Given the description of an element on the screen output the (x, y) to click on. 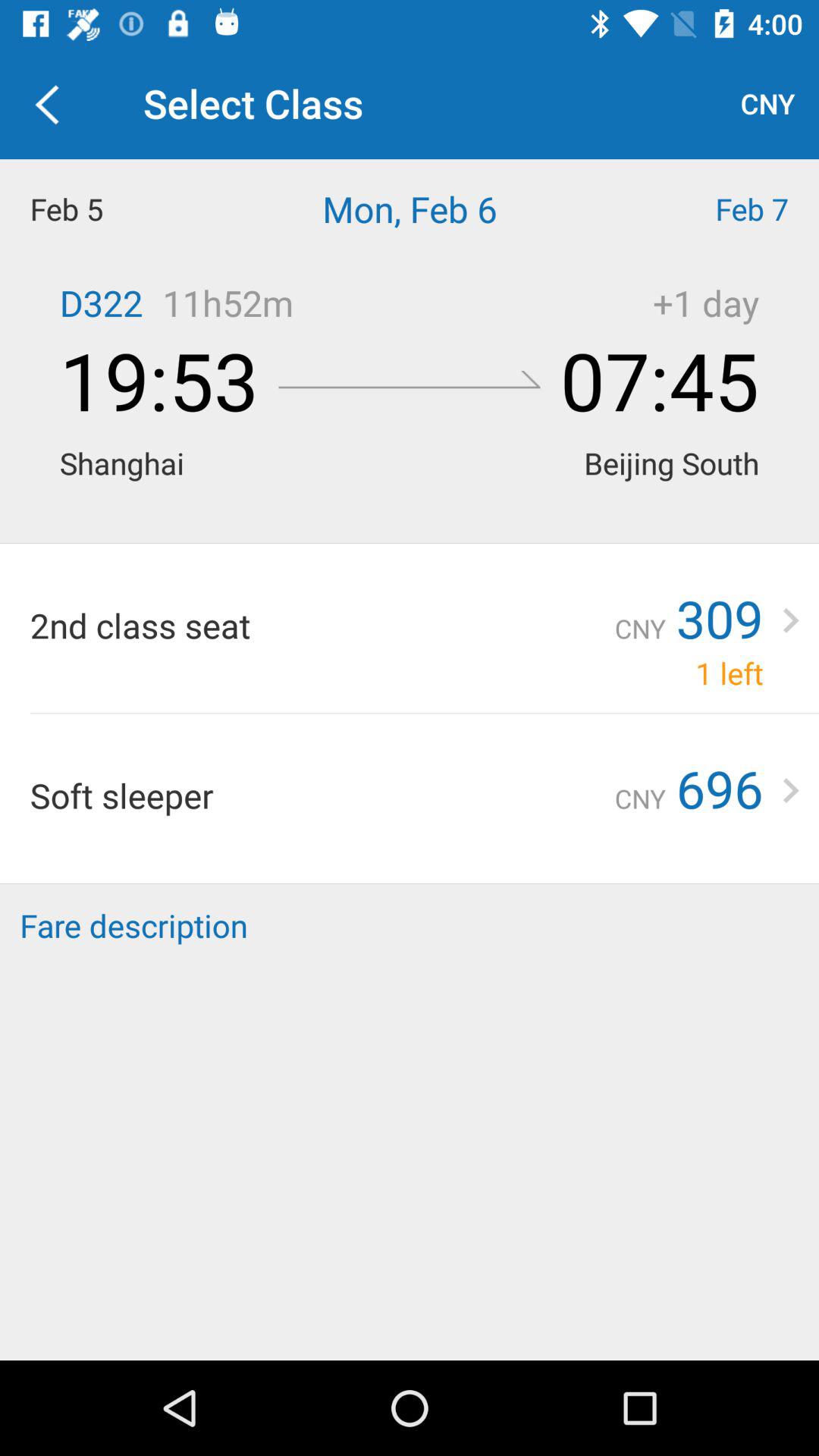
choose the feb 7 (716, 208)
